Given the description of an element on the screen output the (x, y) to click on. 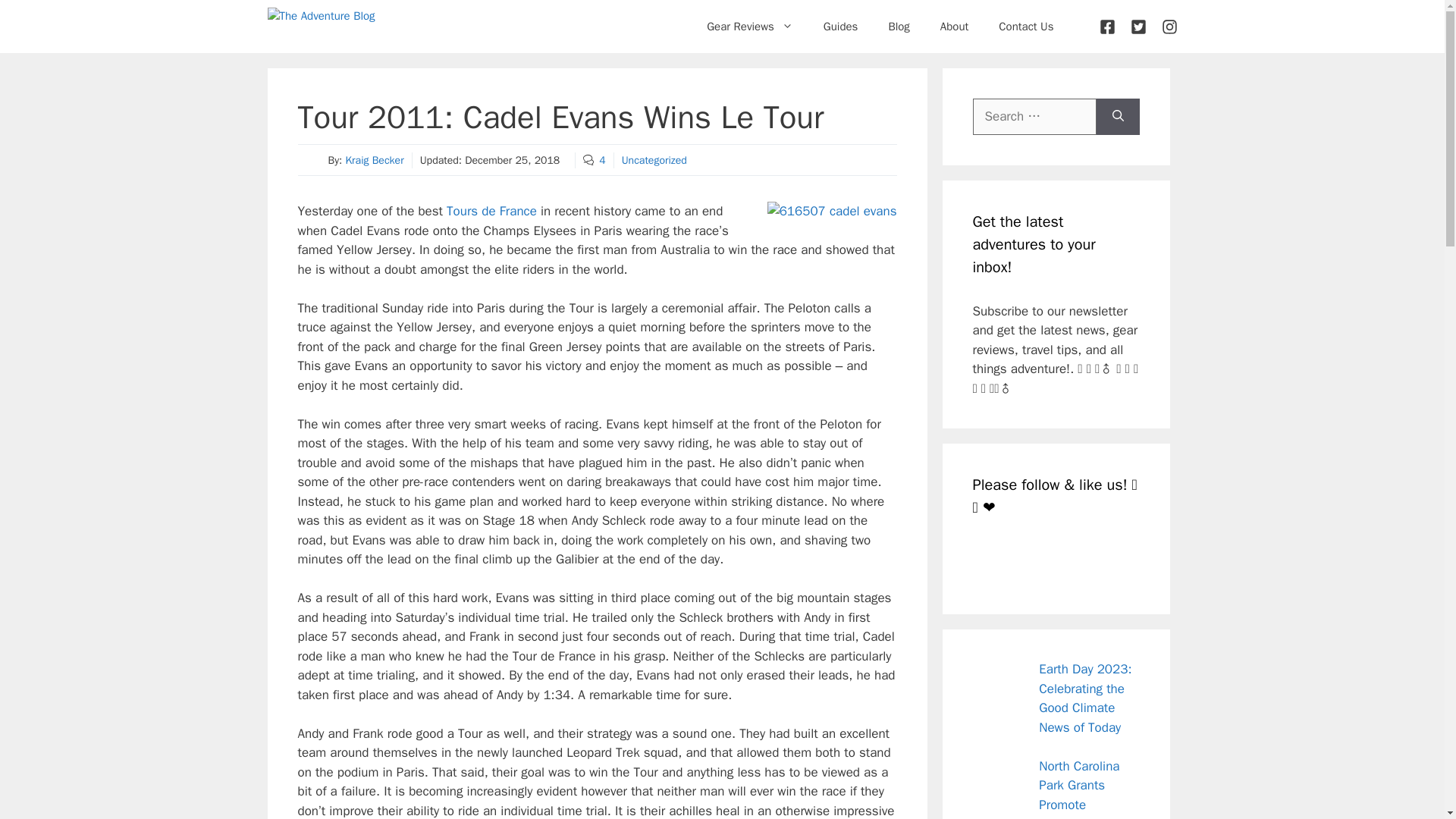
Twitter (1025, 560)
Facebook (990, 560)
Gear Reviews (749, 26)
Instagram (1058, 560)
Kraig Becker (374, 160)
Blog (898, 26)
Uncategorized (654, 160)
Search for: (1034, 116)
About (954, 26)
The Adventure Blog (323, 26)
